Given the description of an element on the screen output the (x, y) to click on. 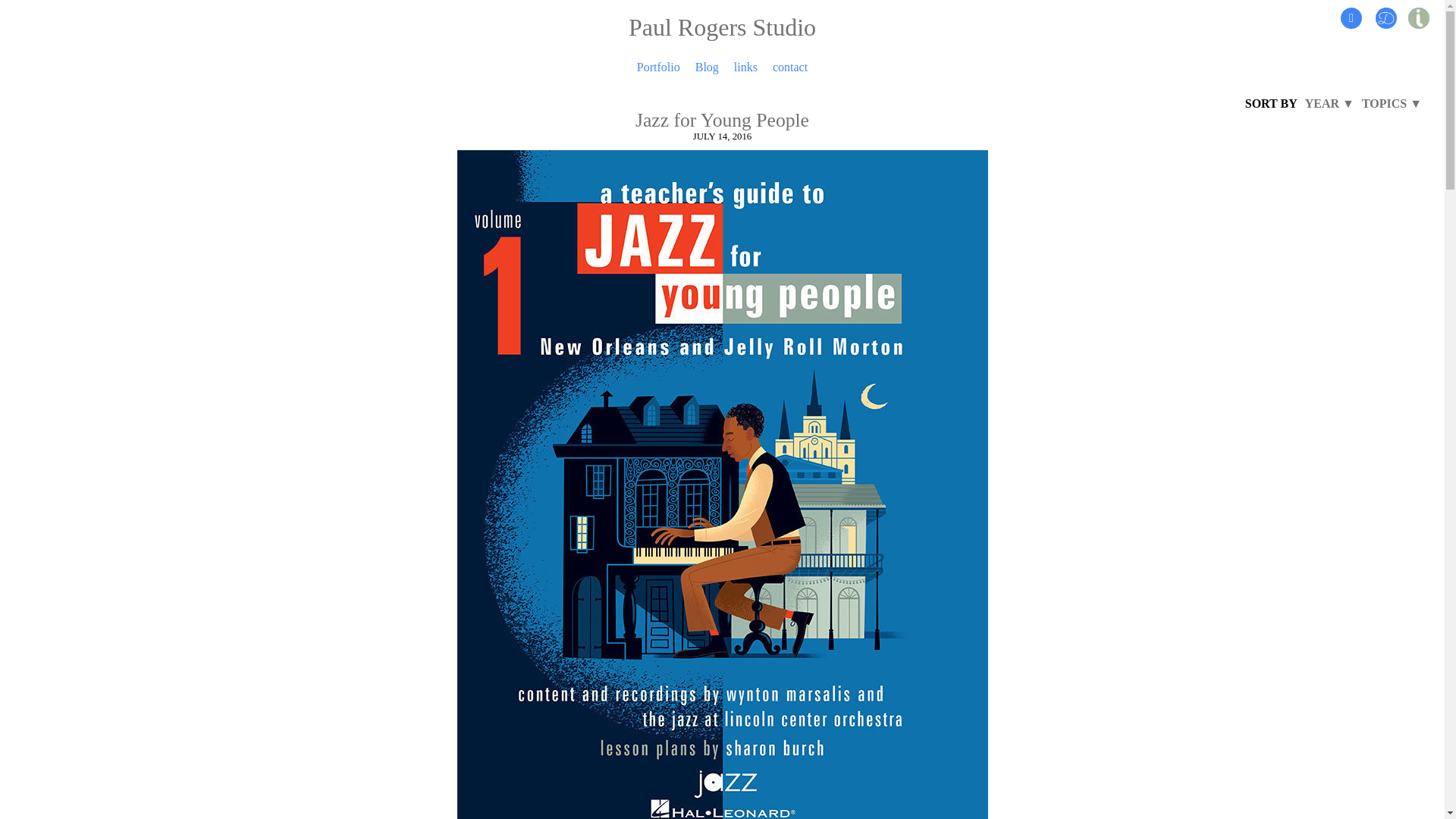
contact (790, 67)
links (745, 67)
Blog (707, 67)
Portfolio (658, 67)
Paul Rogers Studio (721, 37)
